Given the description of an element on the screen output the (x, y) to click on. 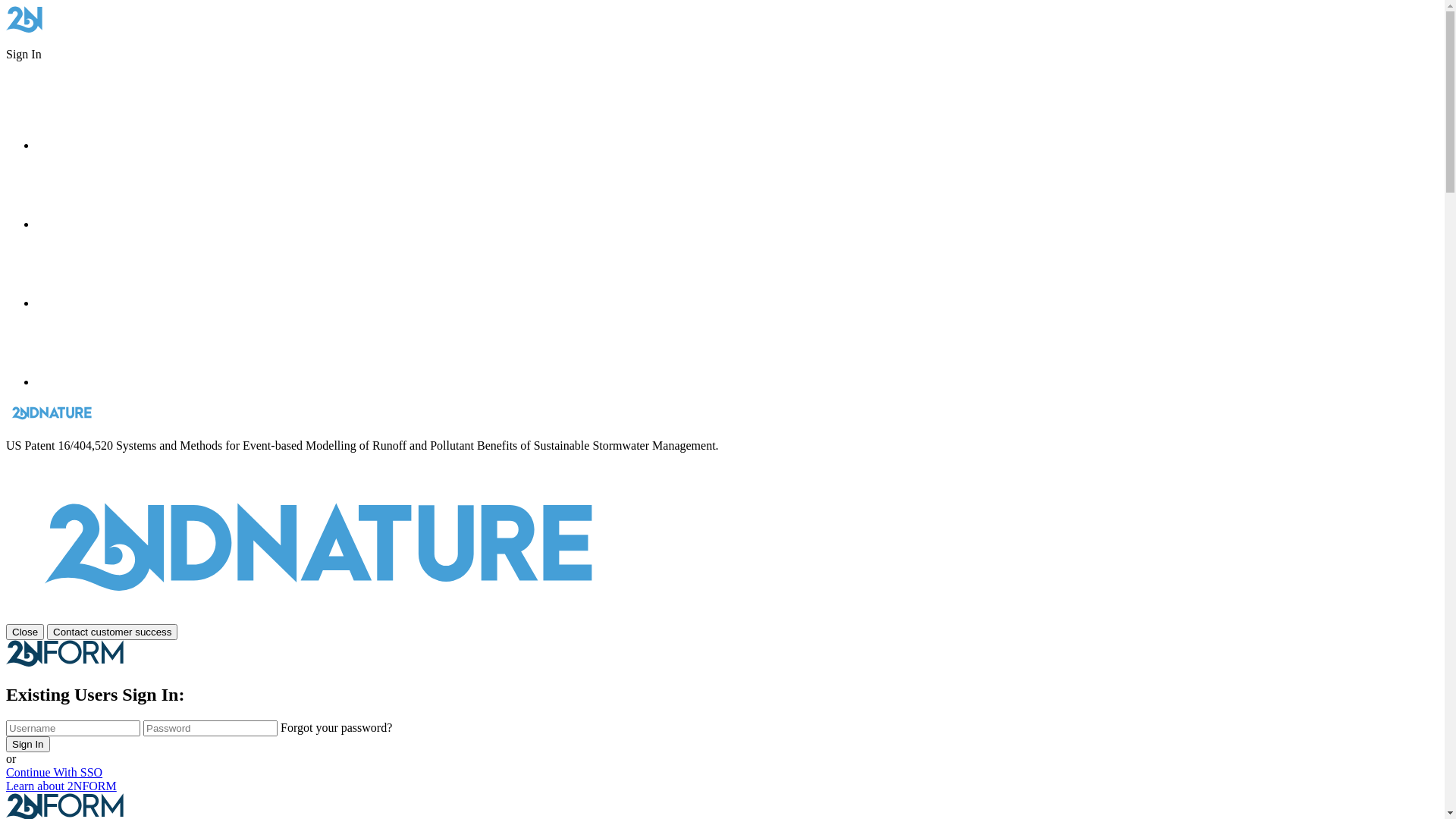
Forgot your password? Element type: text (336, 727)
Sign In Element type: text (28, 744)
Learn about 2NFORM Element type: text (61, 785)
Continue With SSO Element type: text (54, 771)
Contact customer success Element type: text (112, 630)
Contact customer success Element type: text (112, 632)
Help Element type: hover (74, 302)
Sign In Element type: text (23, 53)
Close Element type: text (24, 632)
Import or Export Data Element type: hover (74, 144)
User Element type: hover (74, 381)
Settings Element type: hover (74, 223)
